Given the description of an element on the screen output the (x, y) to click on. 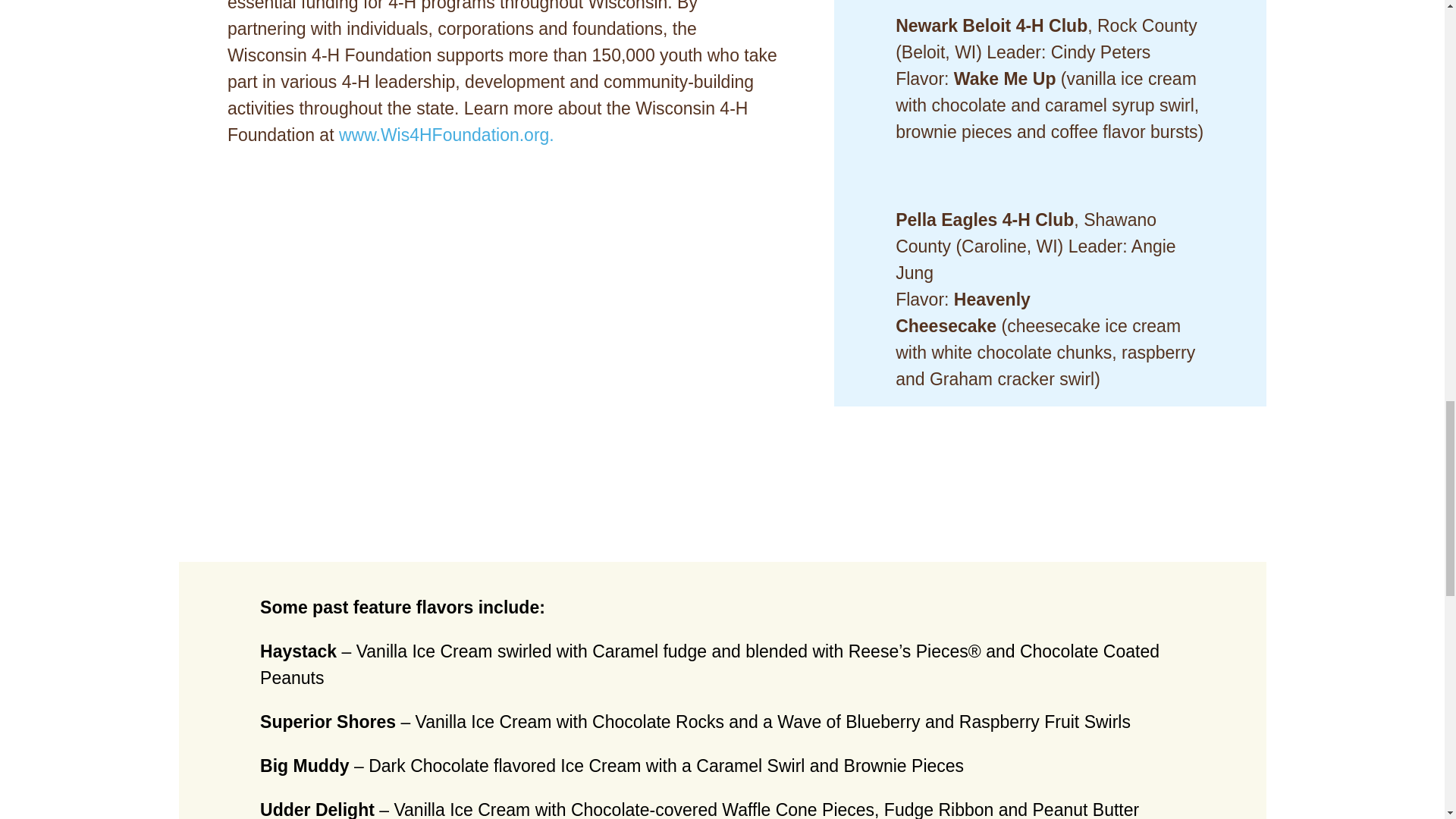
www.Wis4HFoundation.org. (446, 134)
